Given the description of an element on the screen output the (x, y) to click on. 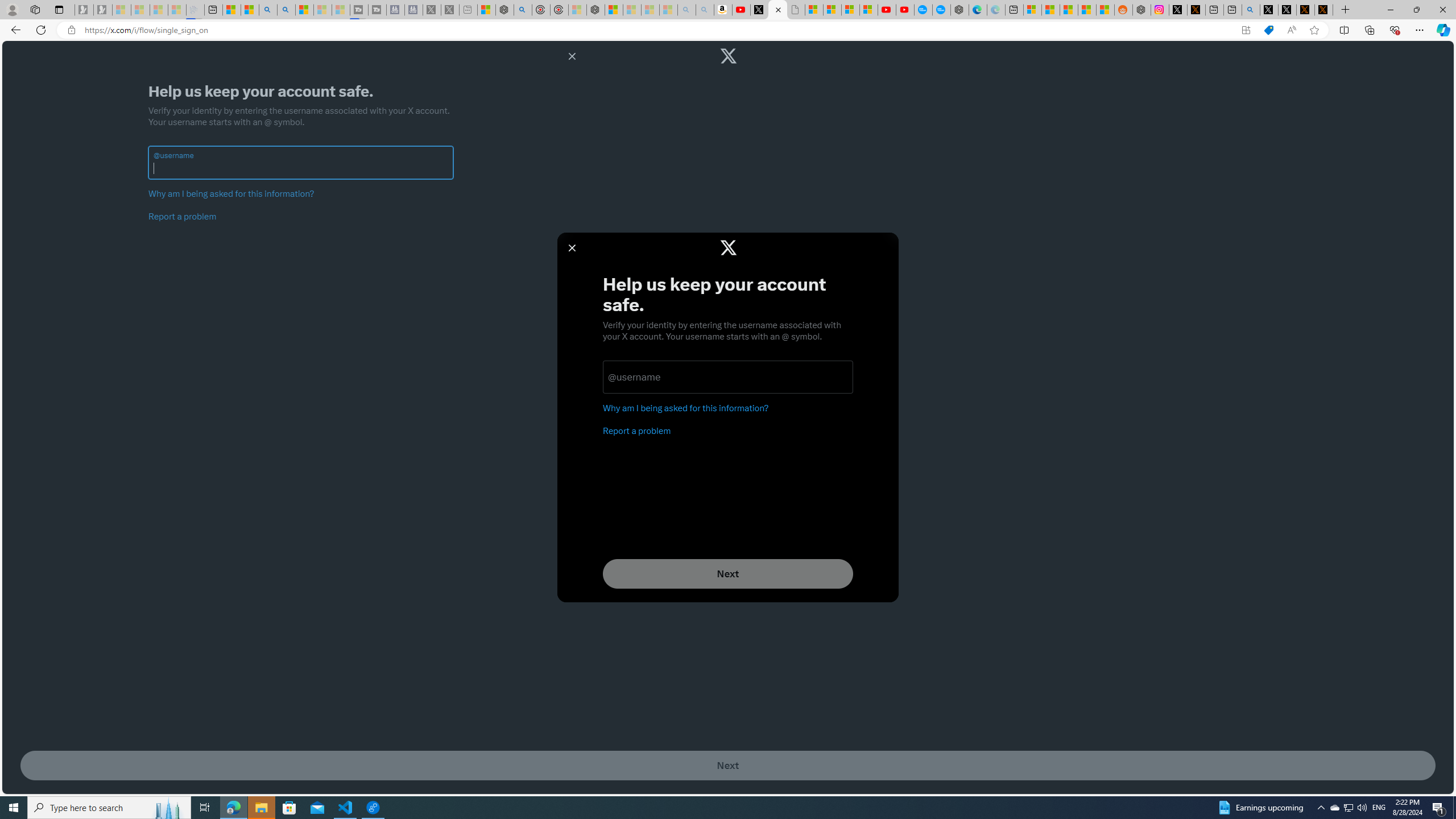
The most popular Google 'how to' searches (941, 9)
Shopping in Microsoft Edge (1268, 29)
Day 1: Arriving in Yemen (surreal to be here) - YouTube (741, 9)
